Given the description of an element on the screen output the (x, y) to click on. 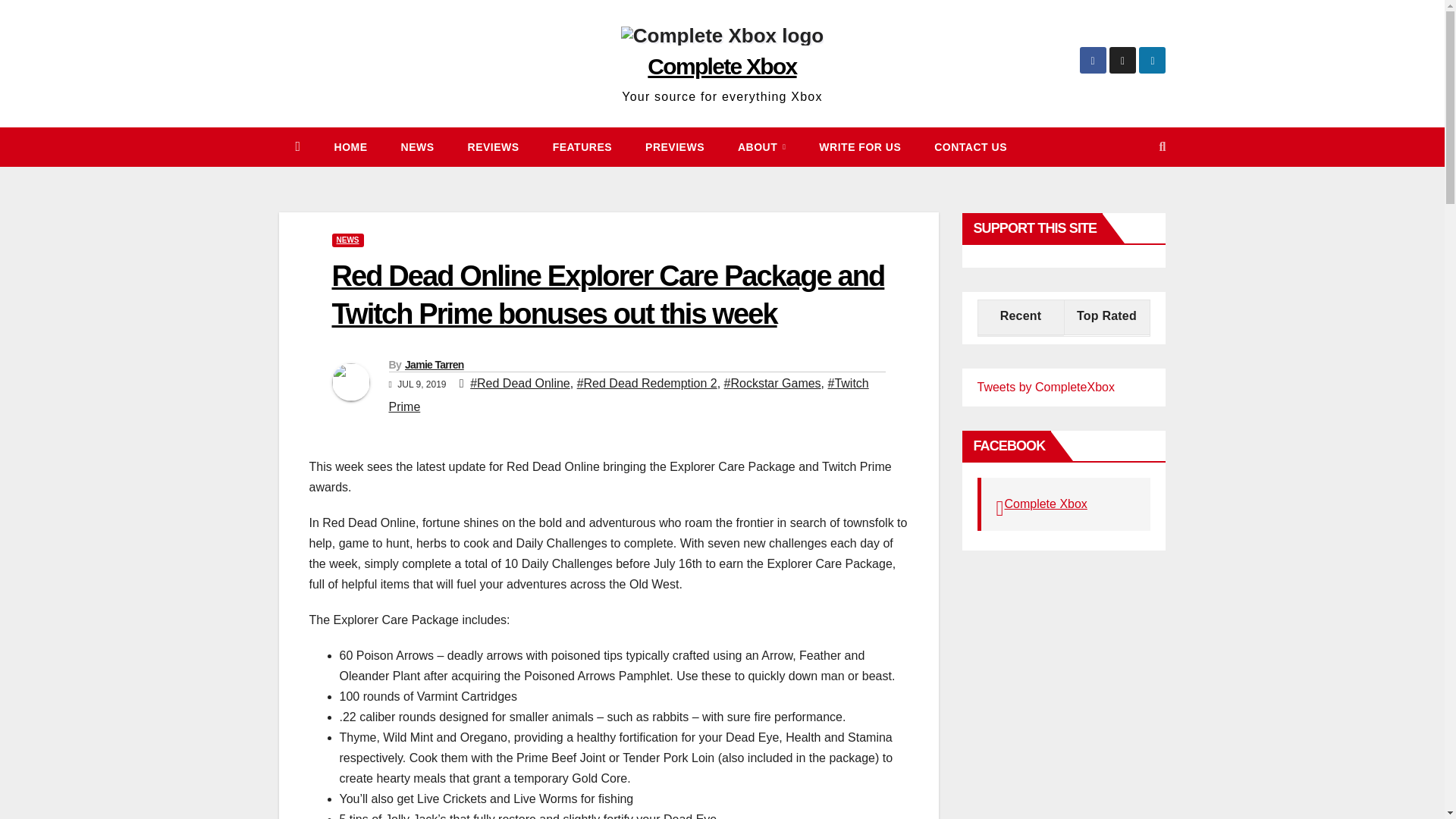
Complete Xbox (721, 66)
Features (581, 147)
News (417, 147)
ABOUT (761, 147)
CONTACT US (970, 147)
HOME (350, 147)
About (761, 147)
WRITE FOR US (859, 147)
Contact us (970, 147)
NEWS (417, 147)
